Given the description of an element on the screen output the (x, y) to click on. 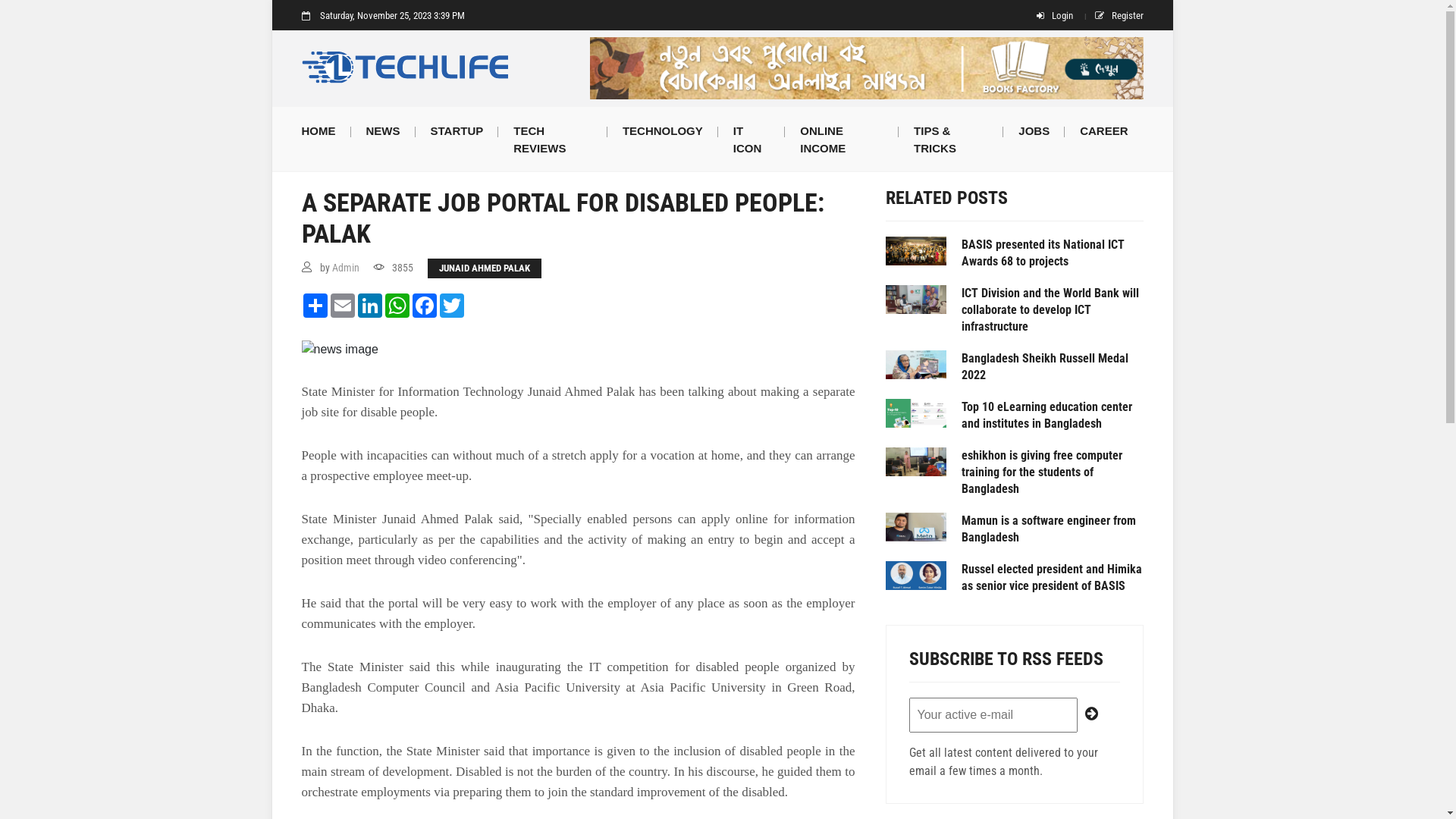
Login Element type: text (1054, 15)
ONLINE INCOME Element type: text (841, 138)
Email Element type: text (342, 305)
STARTUP Element type: text (456, 129)
BASIS presented its National ICT Awards 68 to projects Element type: text (1052, 252)
Admin Element type: text (345, 268)
NEWS Element type: text (382, 129)
JUNAID AHMED PALAK Element type: text (484, 268)
CAREER Element type: text (1103, 129)
WhatsApp Element type: text (397, 305)
TECHNOLOGY Element type: text (662, 129)
Share Element type: text (315, 305)
LinkedIn Element type: text (369, 305)
Register Element type: text (1119, 15)
Bangladesh Sheikh Russell Medal 2022 Element type: text (1052, 366)
TIPS & TRICKS Element type: text (950, 138)
TECH REVIEWS Element type: text (552, 138)
HOME Element type: text (326, 129)
IT ICON Element type: text (751, 138)
Facebook Element type: text (424, 305)
Mamun is a software engineer from Bangladesh Element type: text (1052, 529)
Twitter Element type: text (451, 305)
JOBS Element type: text (1033, 129)
